Given the description of an element on the screen output the (x, y) to click on. 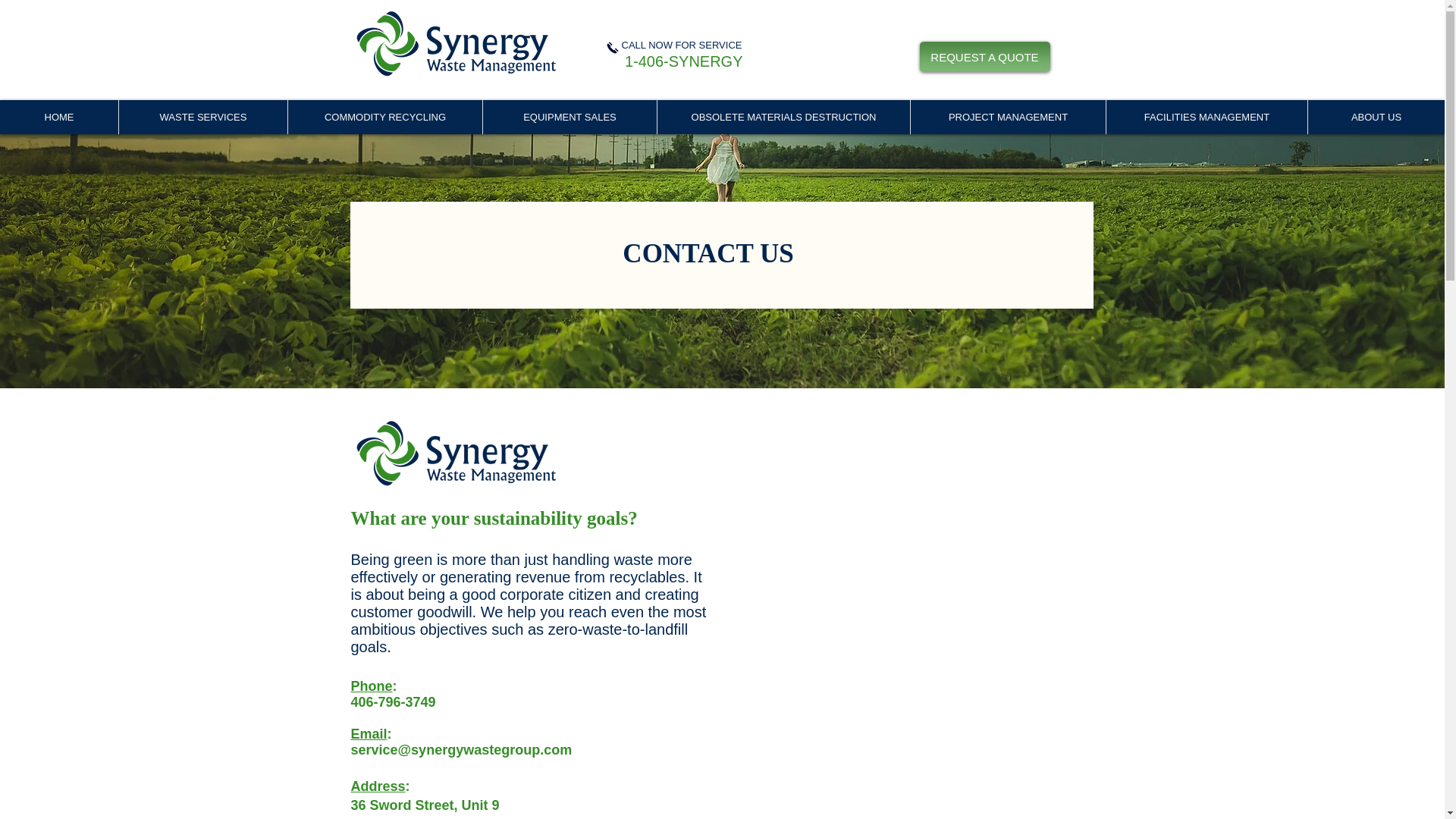
PROJECT MANAGEMENT (1007, 116)
COMMODITY RECYCLING (383, 116)
REQUEST A QUOTE (983, 56)
OBSOLETE MATERIALS DESTRUCTION (783, 116)
HOME (58, 116)
WASTE SERVICES (201, 116)
FACILITIES MANAGEMENT (1206, 116)
EQUIPMENT SALES (568, 116)
